Given the description of an element on the screen output the (x, y) to click on. 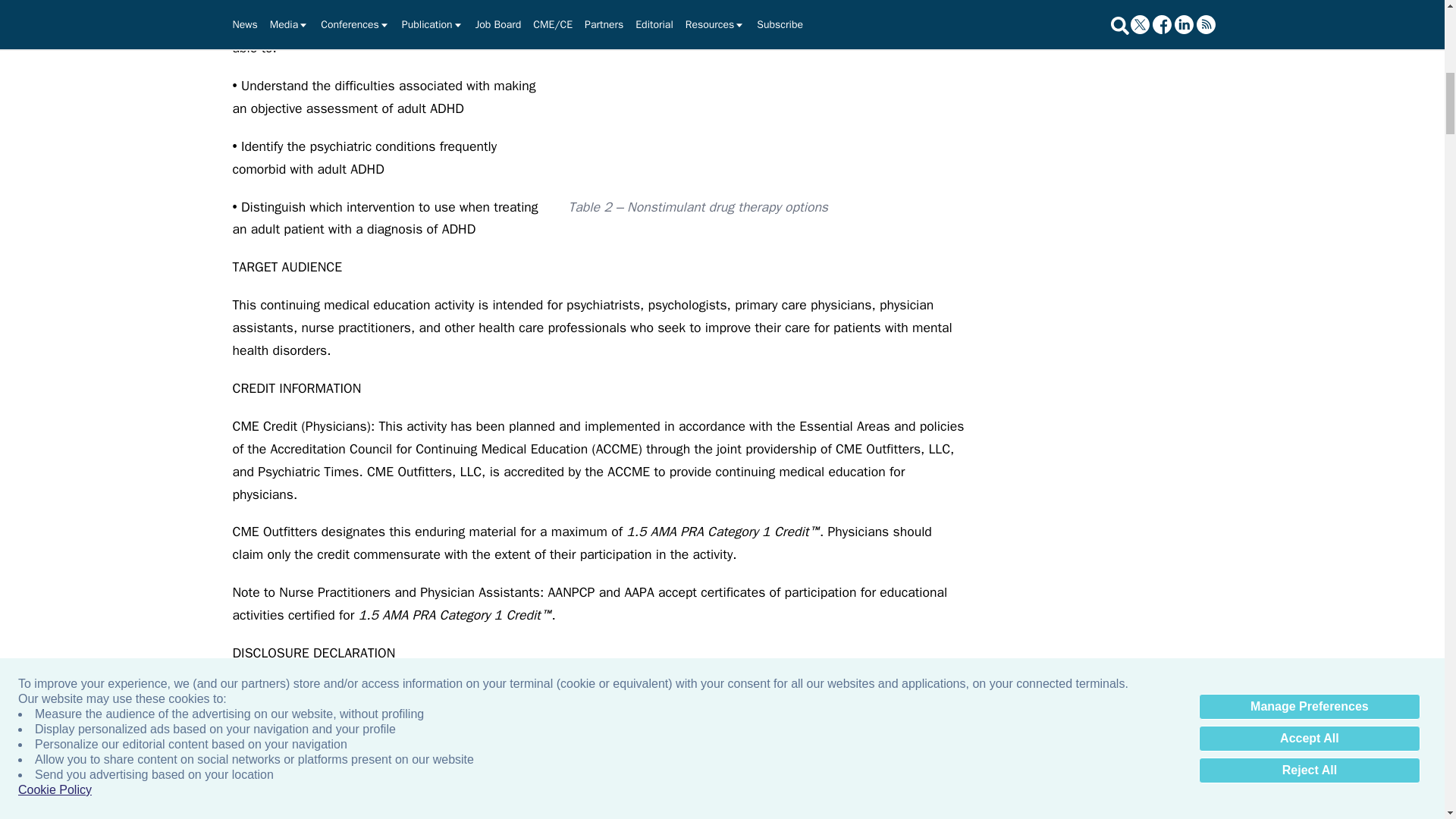
Nonstimulant drug therapy options (767, 95)
